Given the description of an element on the screen output the (x, y) to click on. 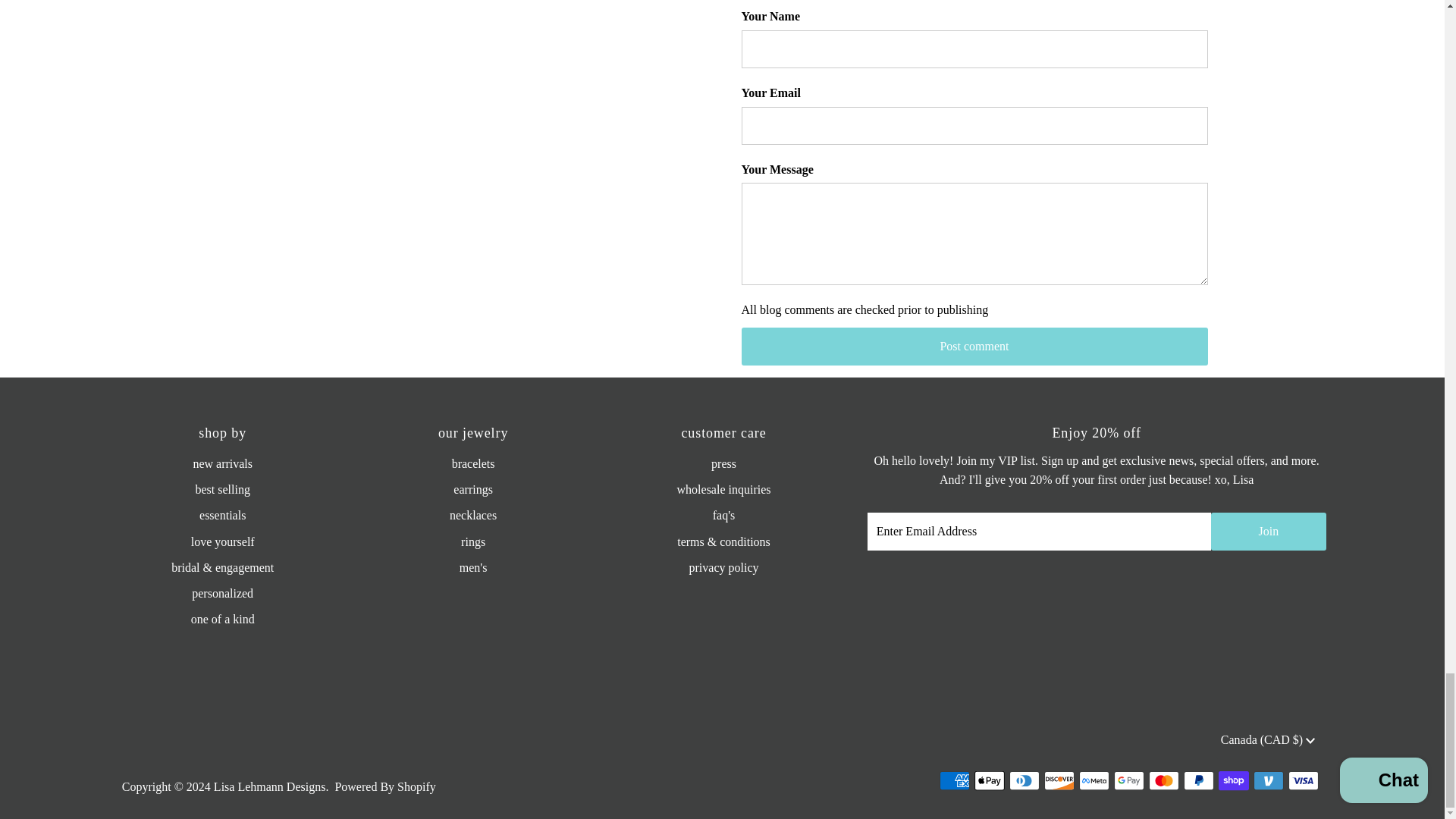
Mastercard (1163, 780)
Shop Pay (1233, 780)
Venmo (1268, 780)
American Express (954, 780)
Apple Pay (989, 780)
Google Pay (1128, 780)
Discover (1058, 780)
Post comment (974, 346)
PayPal (1198, 780)
Join (1267, 531)
